Given the description of an element on the screen output the (x, y) to click on. 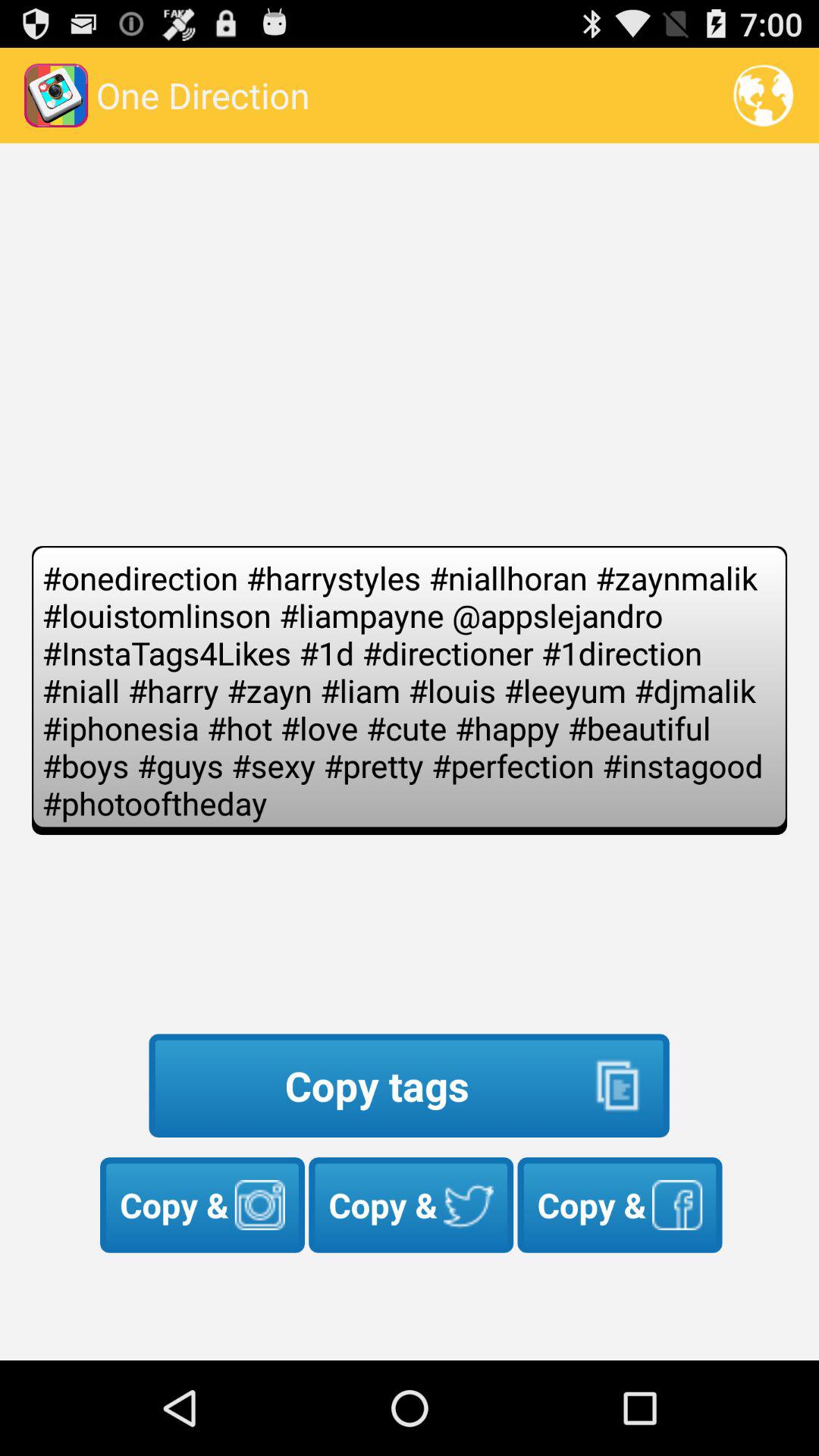
choose the icon at the top right corner (763, 95)
